Given the description of an element on the screen output the (x, y) to click on. 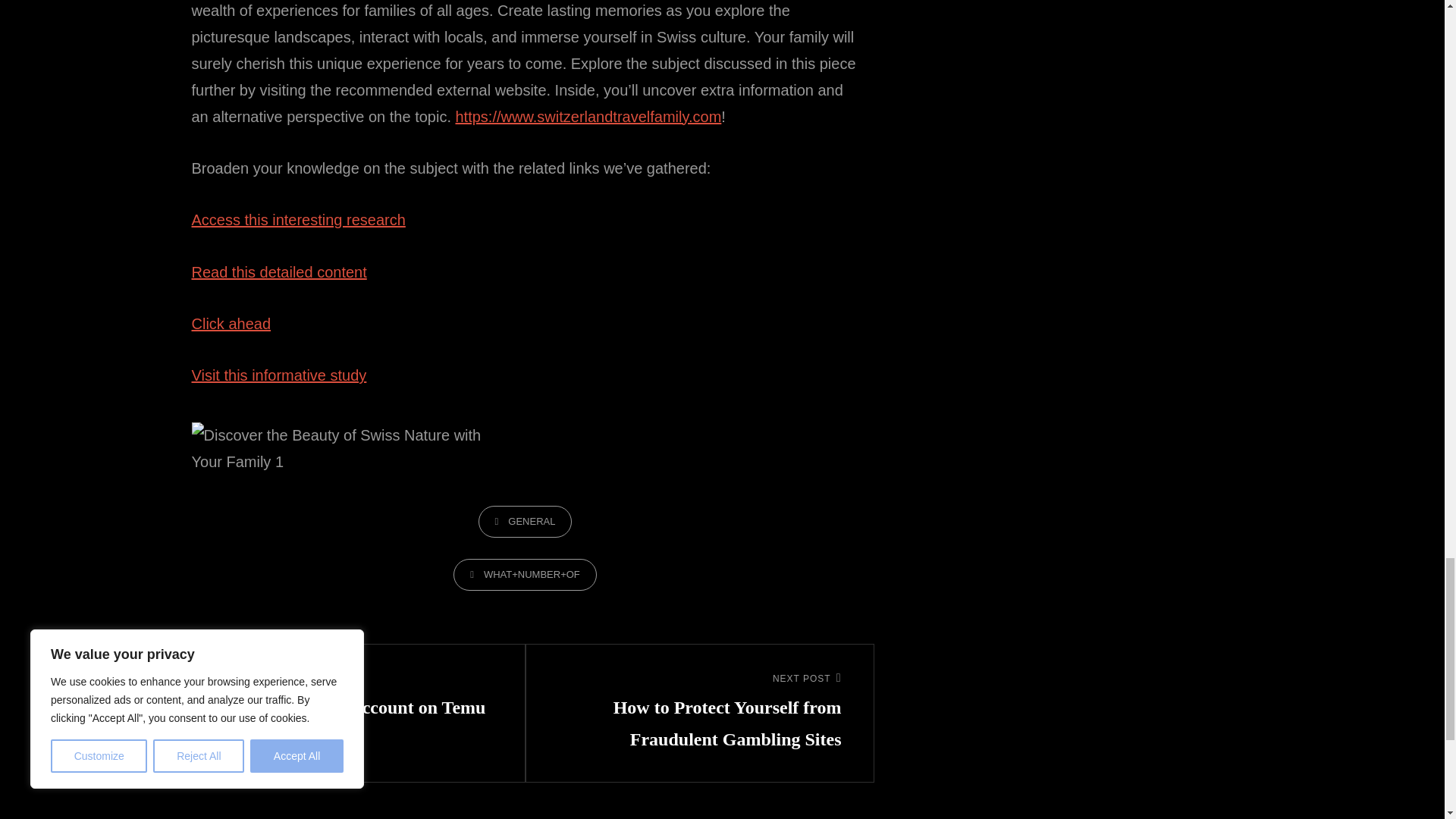
Click ahead (230, 323)
Read this detailed content (351, 696)
Visit this informative study (278, 271)
Access this interesting research (278, 375)
GENERAL (297, 219)
